Given the description of an element on the screen output the (x, y) to click on. 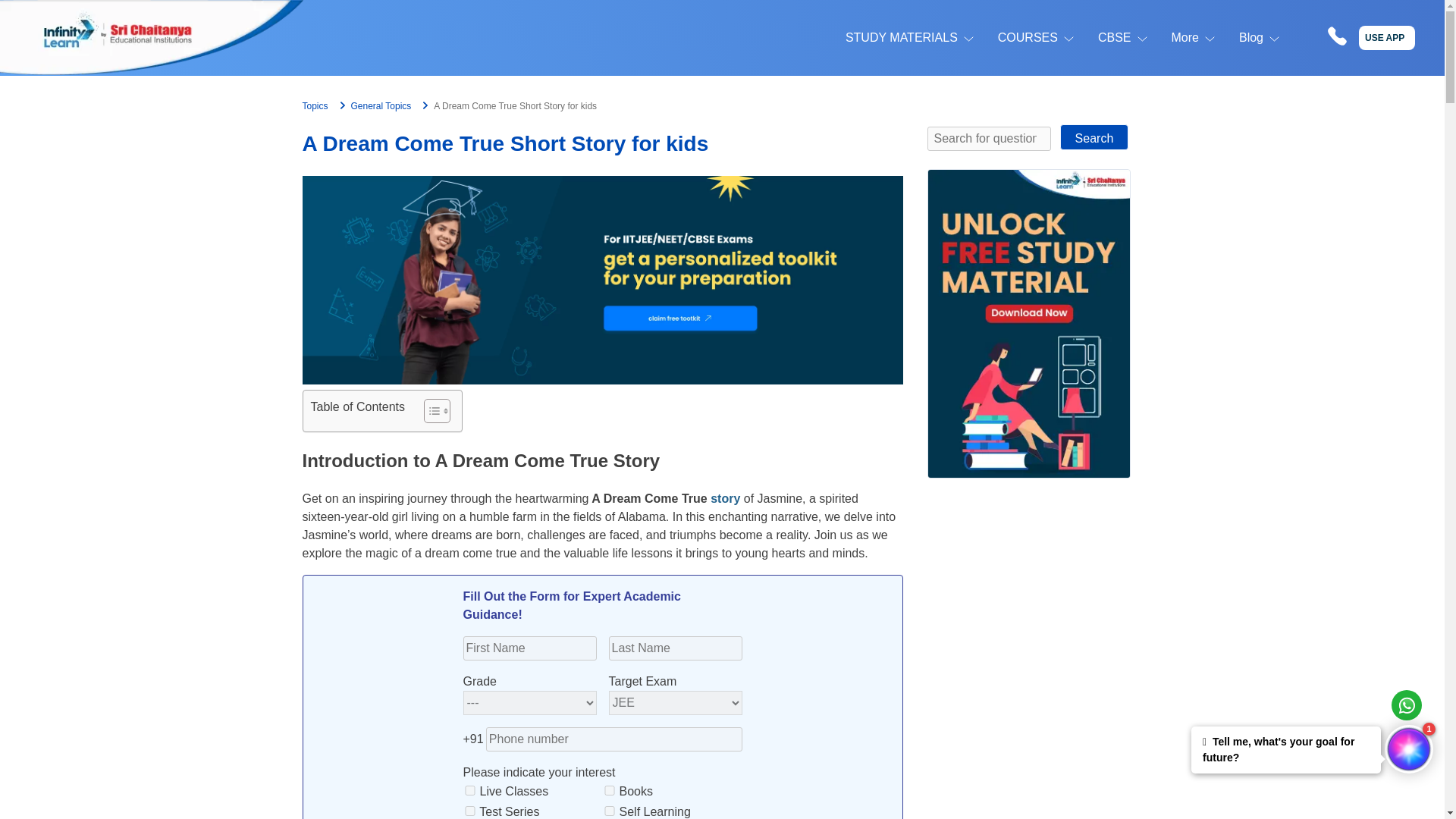
Search (1093, 136)
Test Series (470, 810)
Go to the General Topics category archives. (381, 105)
Books (609, 790)
Self Learning (609, 810)
Go to the Topics category archives. (314, 105)
Infinity Learn by Sri Chaitanya (151, 38)
Live Classes (470, 790)
STUDY MATERIALS (901, 37)
